Given the description of an element on the screen output the (x, y) to click on. 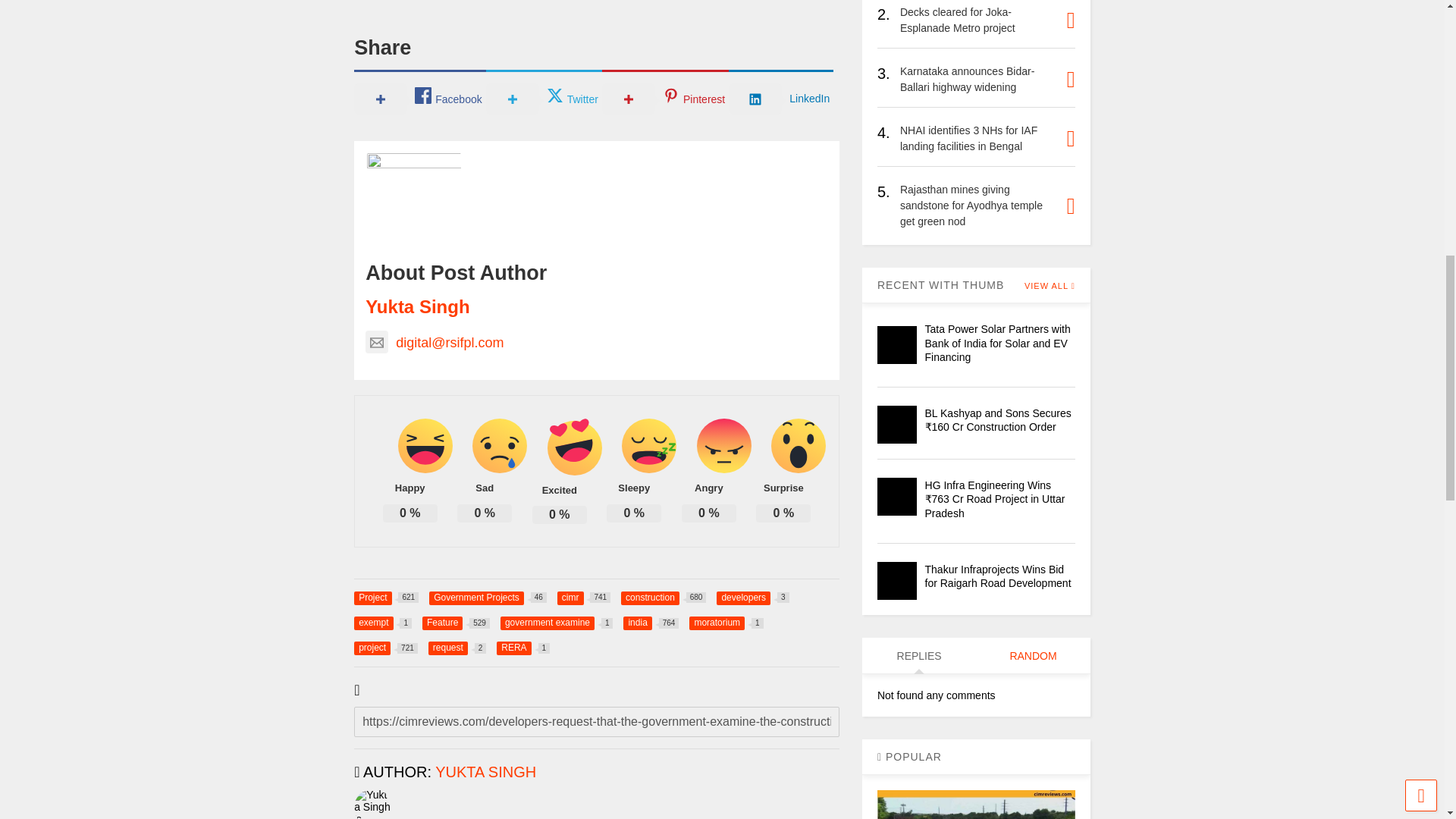
author profile (485, 771)
